Given the description of an element on the screen output the (x, y) to click on. 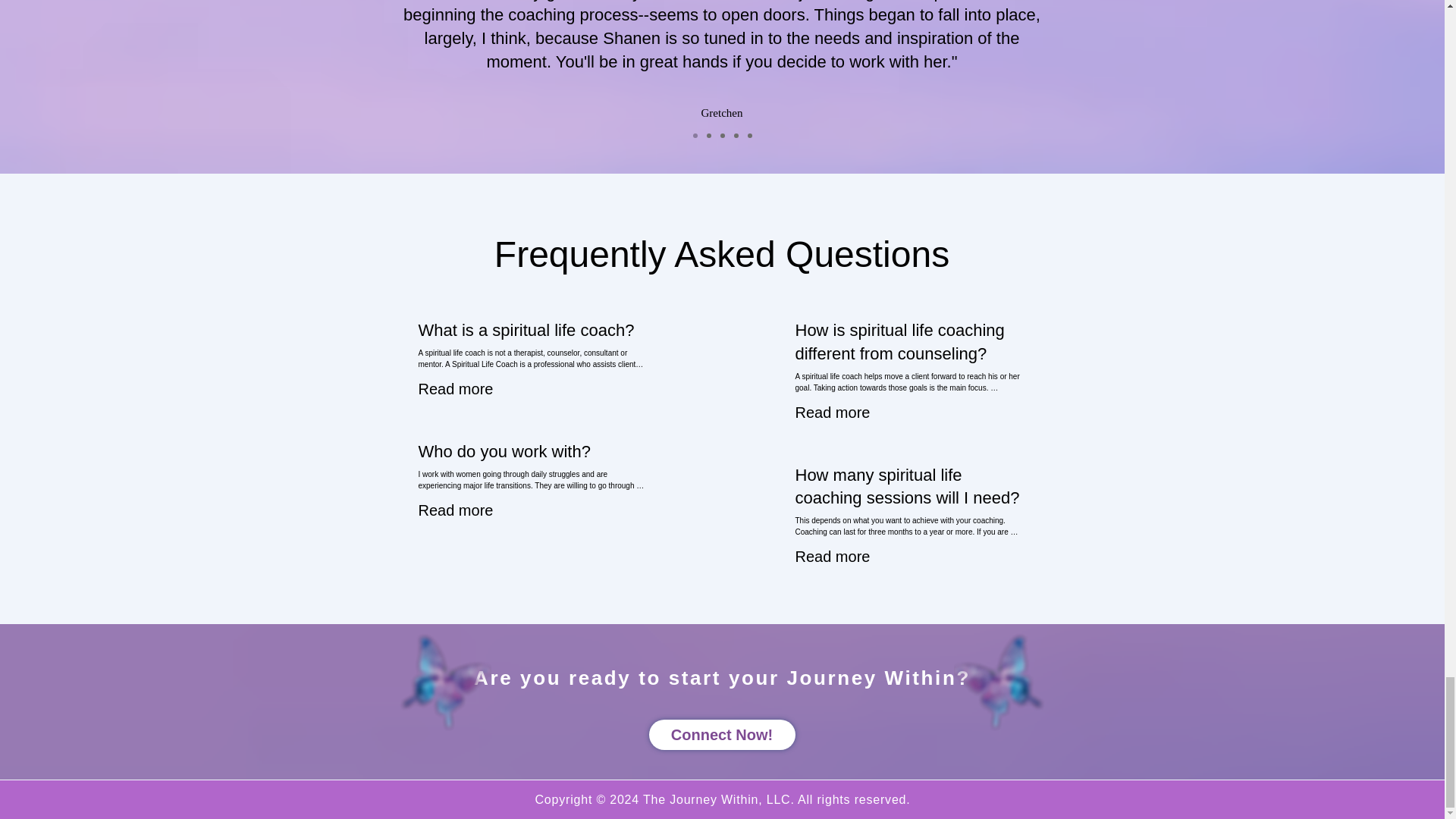
Read more (456, 509)
Read more (456, 388)
Read more (831, 412)
Connect Now! (721, 734)
Read more (831, 556)
